Given the description of an element on the screen output the (x, y) to click on. 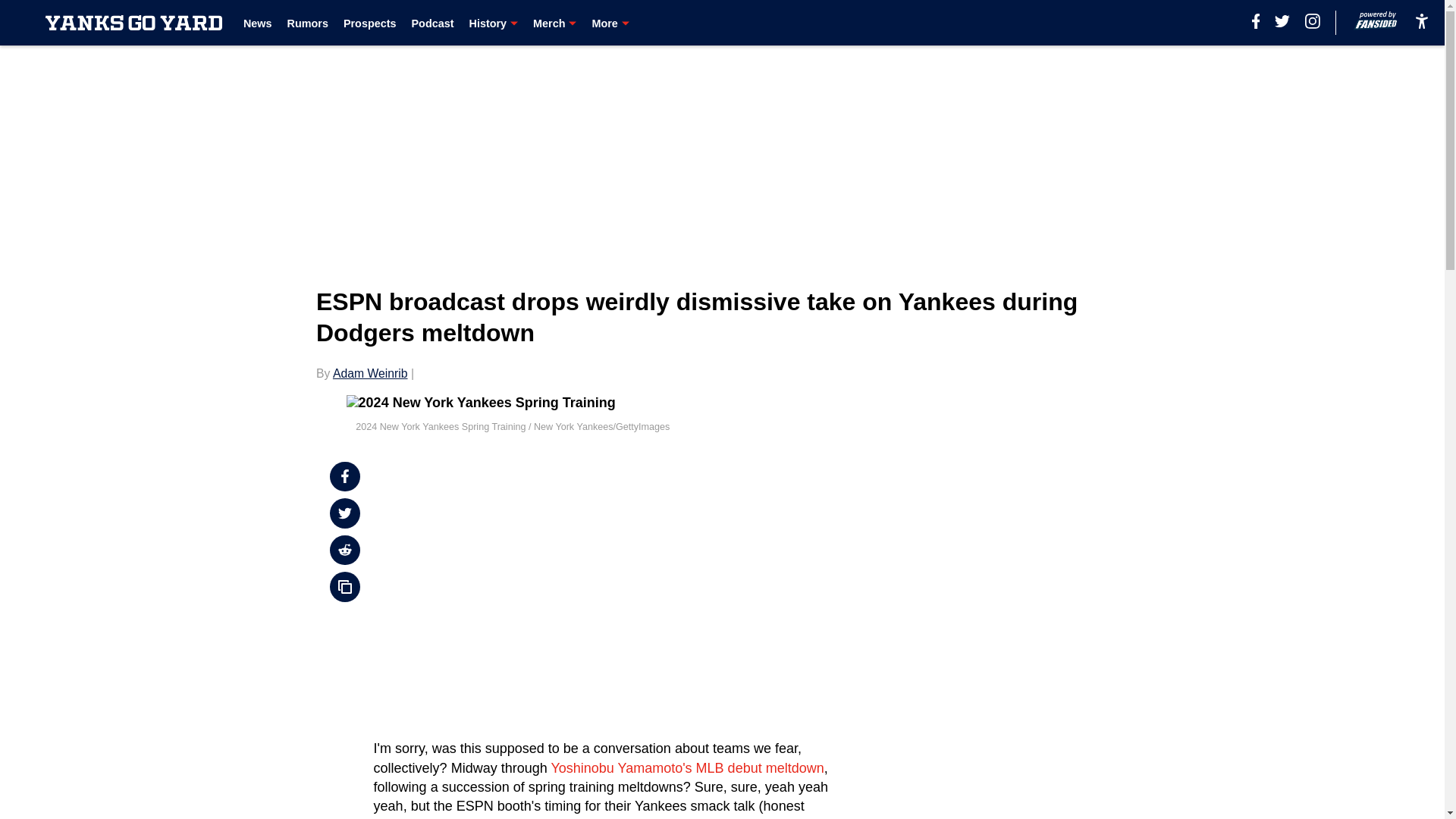
Adam Weinrib (370, 373)
Prospects (369, 23)
Podcast (431, 23)
News (257, 23)
Rumors (307, 23)
Yoshinobu Yamamoto's MLB debut meltdown (687, 767)
